Given the description of an element on the screen output the (x, y) to click on. 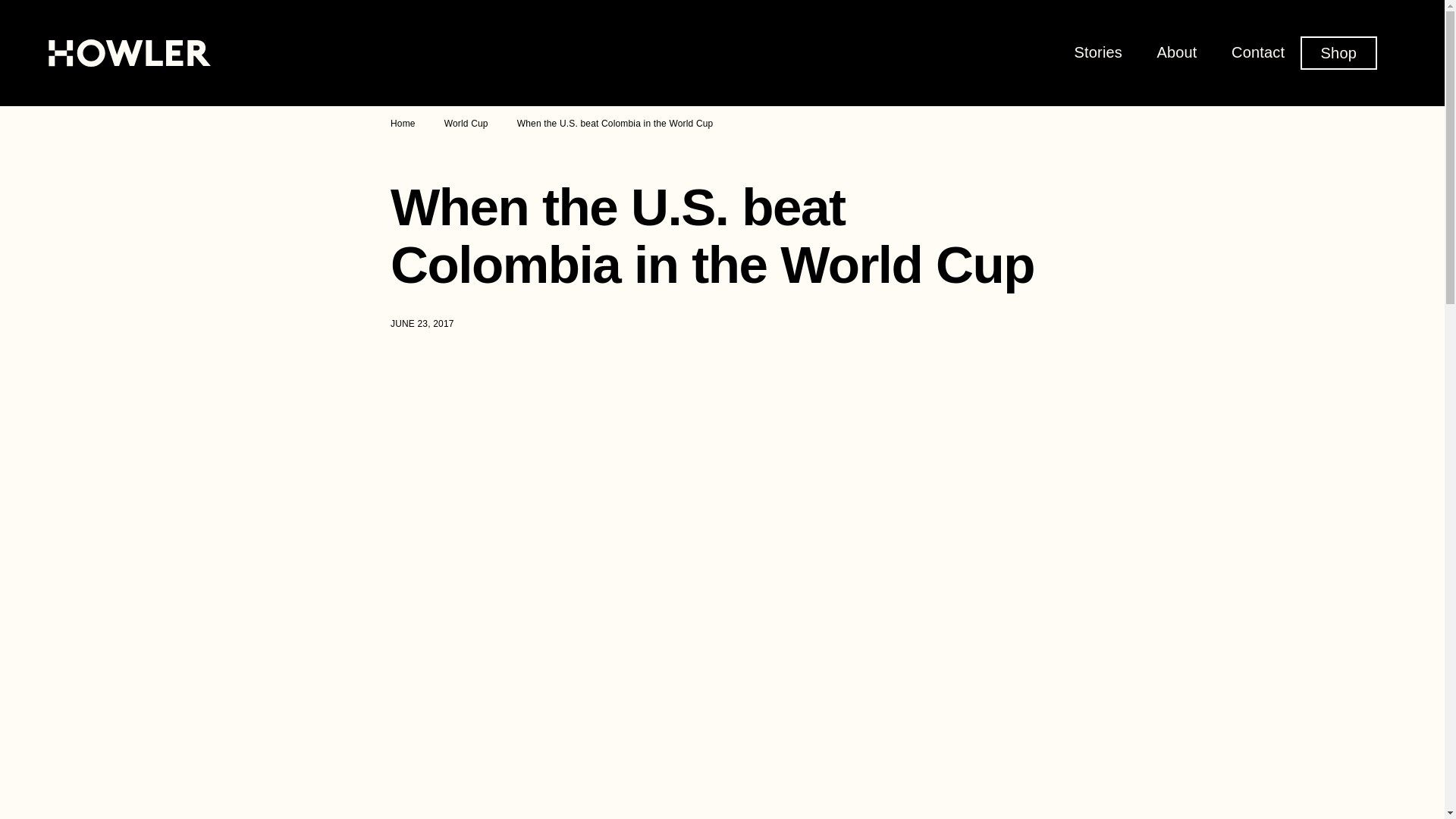
Stories (1098, 52)
World Cup (465, 122)
Shop (1338, 51)
About (1176, 52)
Contact (1257, 52)
Home (402, 122)
